Given the description of an element on the screen output the (x, y) to click on. 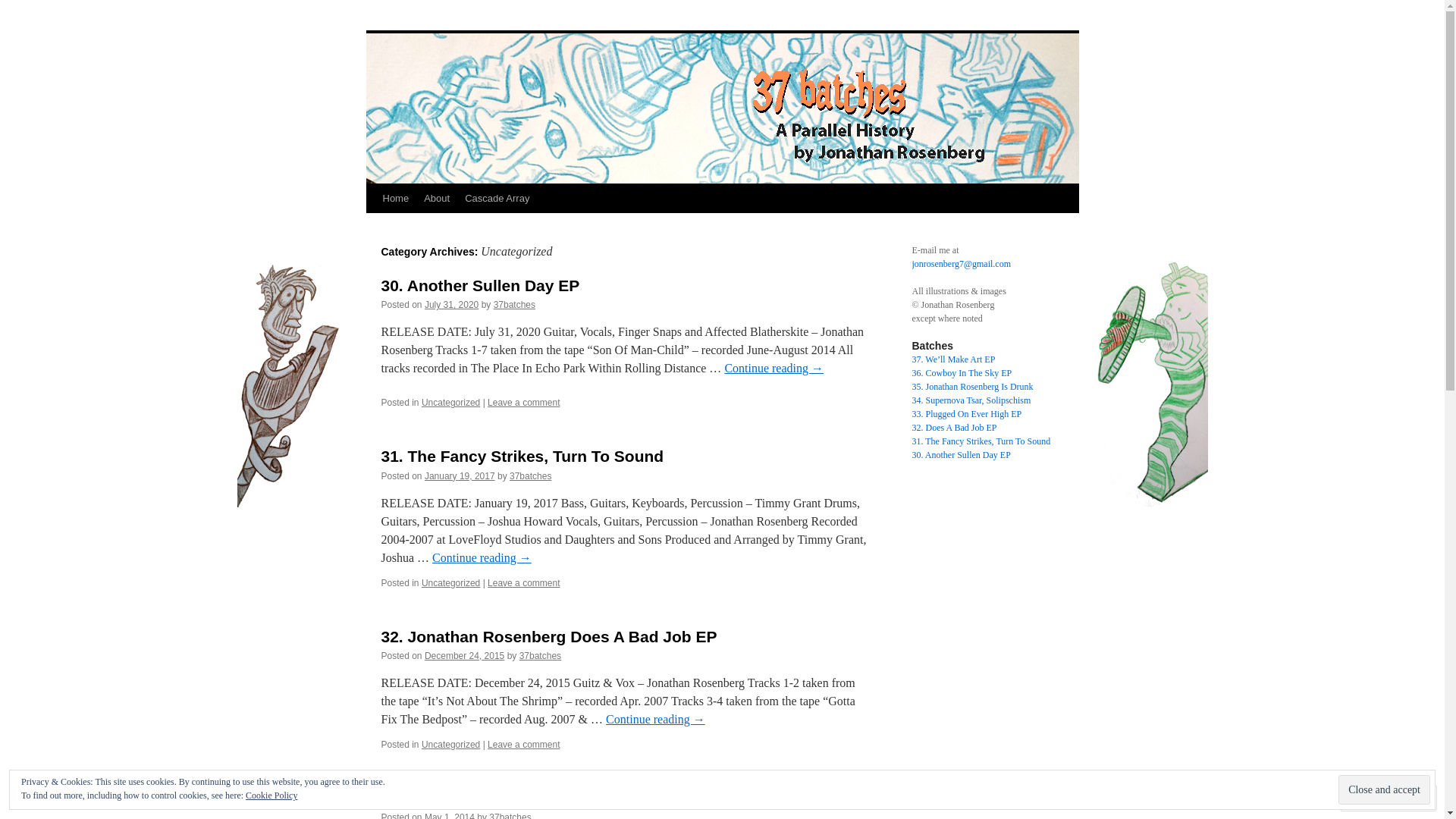
January 19, 2017 Element type: text (459, 475)
Cascade Array Element type: text (496, 198)
Follow Element type: text (1374, 797)
36. Cowboy In The Sky EP Element type: text (961, 372)
30. Another Sullen Day EP Element type: text (960, 454)
30. Another Sullen Day EP Element type: text (479, 285)
33. Plugged On Ever High EP Element type: text (490, 797)
jonrosenberg7@gmail.com Element type: text (960, 263)
32. Does A Bad Job EP Element type: text (953, 427)
37batches Element type: text (420, 43)
Uncategorized Element type: text (450, 744)
35. Jonathan Rosenberg Is Drunk Element type: text (971, 386)
Close and accept Element type: text (1384, 789)
37batches Element type: text (514, 304)
Uncategorized Element type: text (450, 402)
Cookie Policy Element type: text (271, 795)
31. The Fancy Strikes, Turn To Sound Element type: text (980, 441)
33. Plugged On Ever High EP Element type: text (966, 413)
Leave a comment Element type: text (523, 402)
31. The Fancy Strikes, Turn To Sound Element type: text (521, 455)
July 31, 2020 Element type: text (451, 304)
About Element type: text (436, 198)
Home Element type: text (395, 198)
Leave a comment Element type: text (523, 744)
34. Supernova Tsar, Solipschism Element type: text (970, 400)
37batches Element type: text (540, 655)
Uncategorized Element type: text (450, 582)
December 24, 2015 Element type: text (464, 655)
Leave a comment Element type: text (523, 582)
32. Jonathan Rosenberg Does A Bad Job EP Element type: text (548, 636)
37batches Element type: text (530, 475)
